Given the description of an element on the screen output the (x, y) to click on. 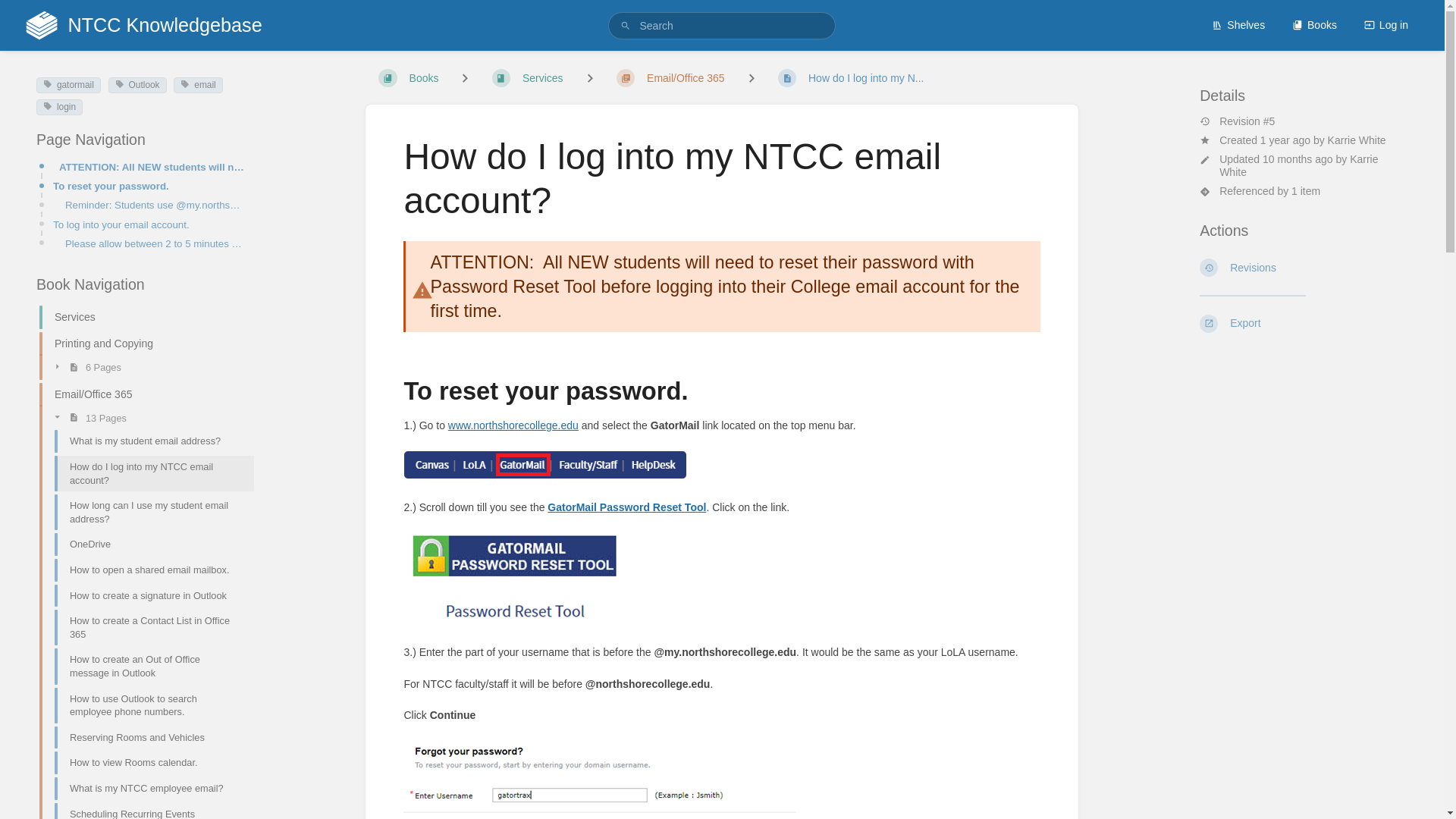
Karrie White (1298, 165)
Karrie White (1356, 140)
NTCC Knowledgebase (142, 24)
Thu, Aug 31, 2023 7:06 PM (1297, 159)
Log in (1386, 24)
To reset your password. (148, 186)
email (197, 84)
Printing and Copying (140, 343)
To log into your email account. (148, 224)
6 Pages (147, 366)
Revisions (1304, 267)
Books (1314, 24)
Fri, Oct 21, 2022 2:23 PM (1285, 140)
gatormail (68, 84)
